Given the description of an element on the screen output the (x, y) to click on. 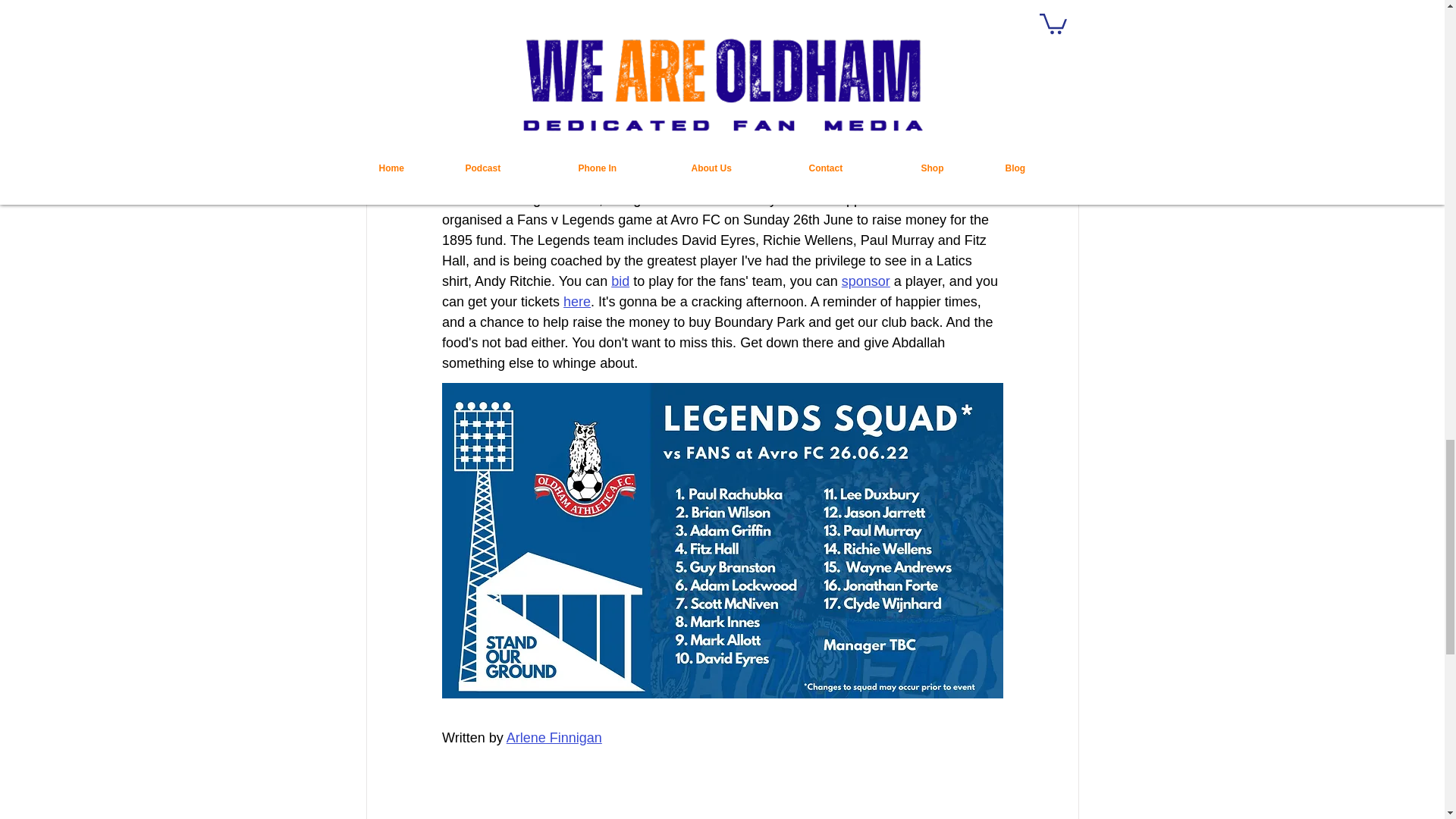
here (577, 301)
bid (619, 281)
sponsor (865, 281)
Arlene Finnigan (553, 737)
